Given the description of an element on the screen output the (x, y) to click on. 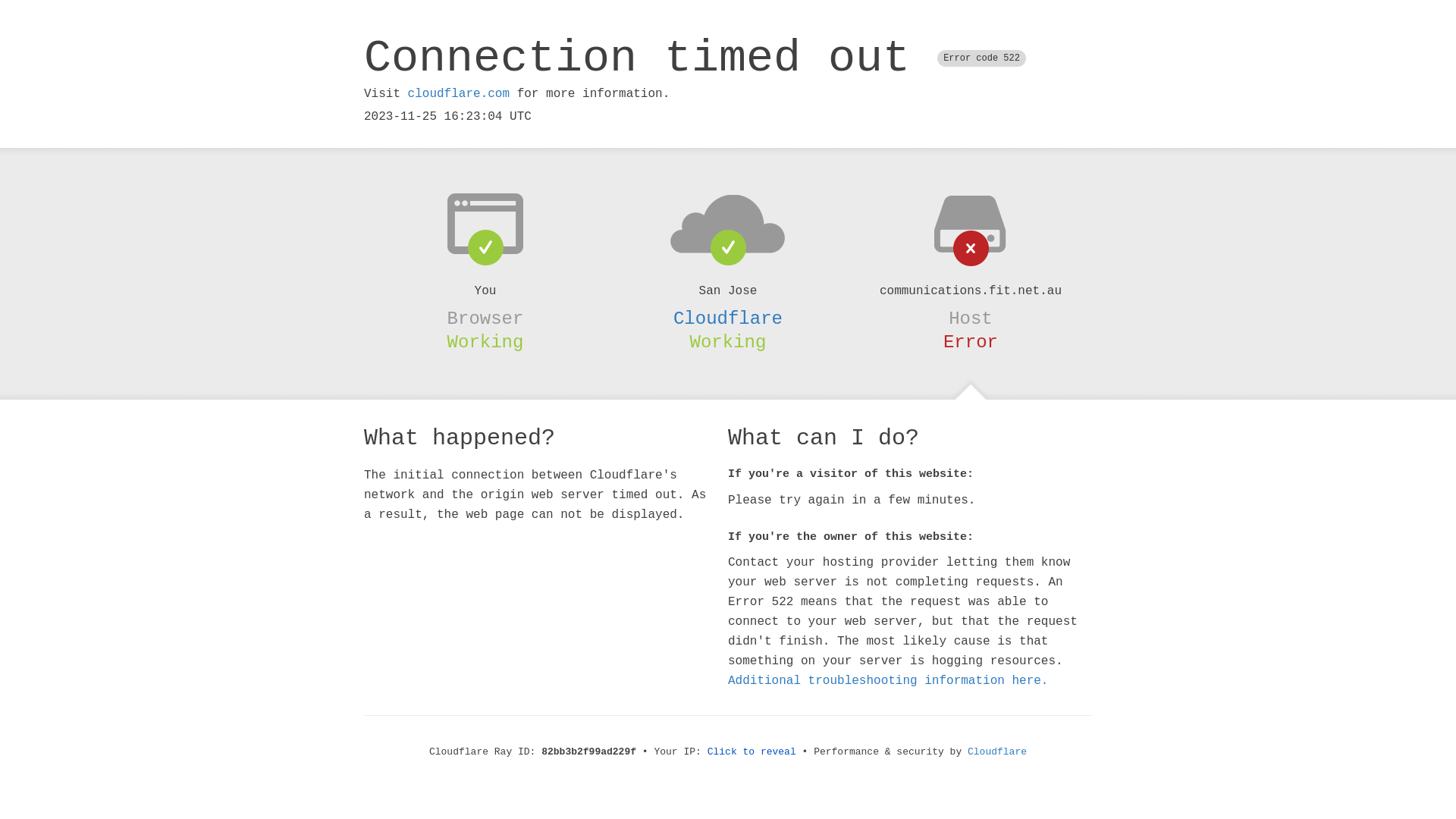
cloudflare.com Element type: text (458, 93)
Cloudflare Element type: text (996, 751)
Cloudflare Element type: text (727, 318)
Additional troubleshooting information here. Element type: text (888, 680)
Click to reveal Element type: text (751, 751)
